Given the description of an element on the screen output the (x, y) to click on. 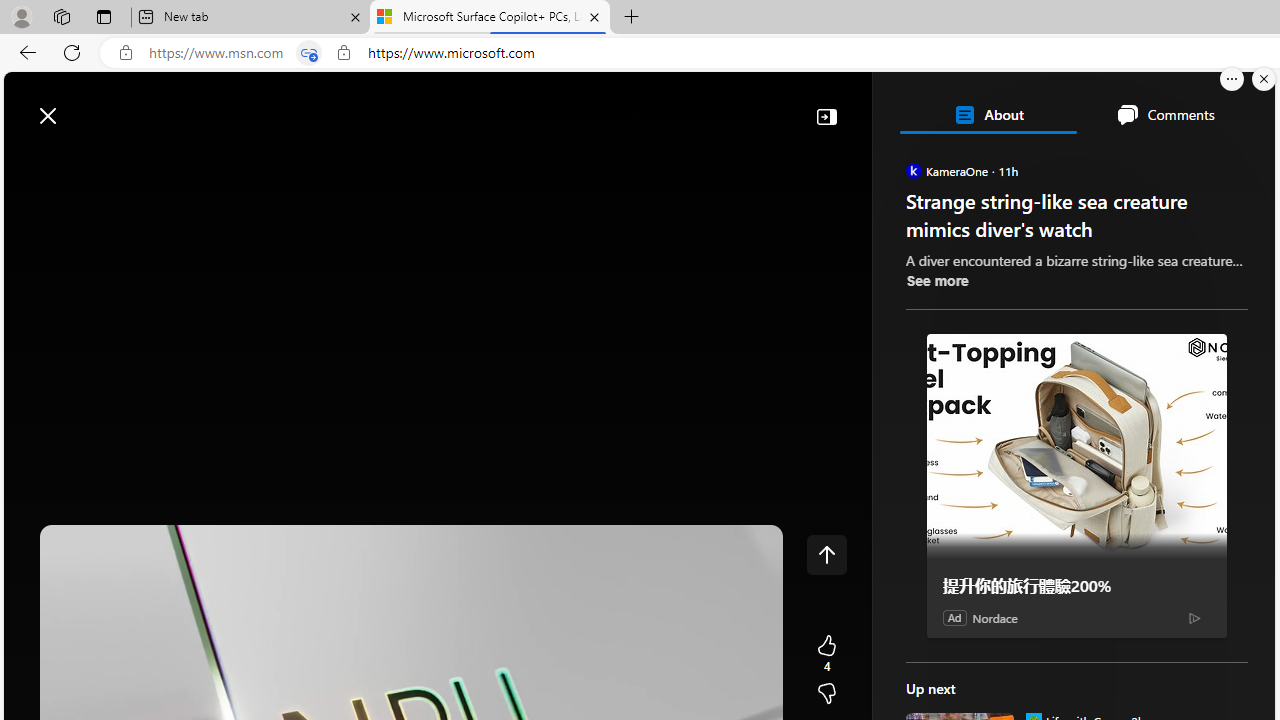
KameraOne (912, 170)
Skip to footer (82, 105)
Collapse (826, 115)
Open settings (1230, 105)
Skip to content (86, 105)
